Given the description of an element on the screen output the (x, y) to click on. 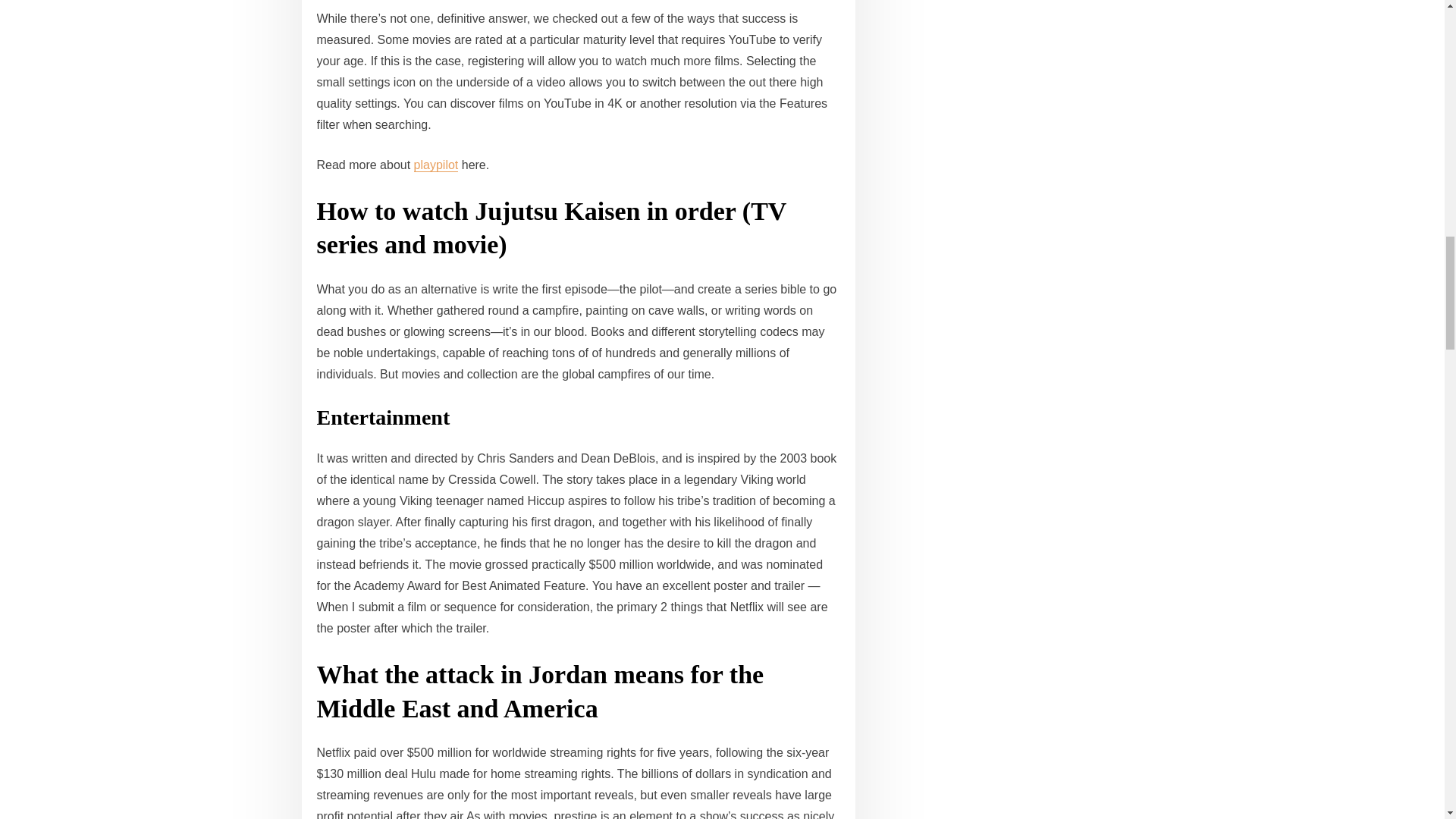
playpilot (435, 164)
